Given the description of an element on the screen output the (x, y) to click on. 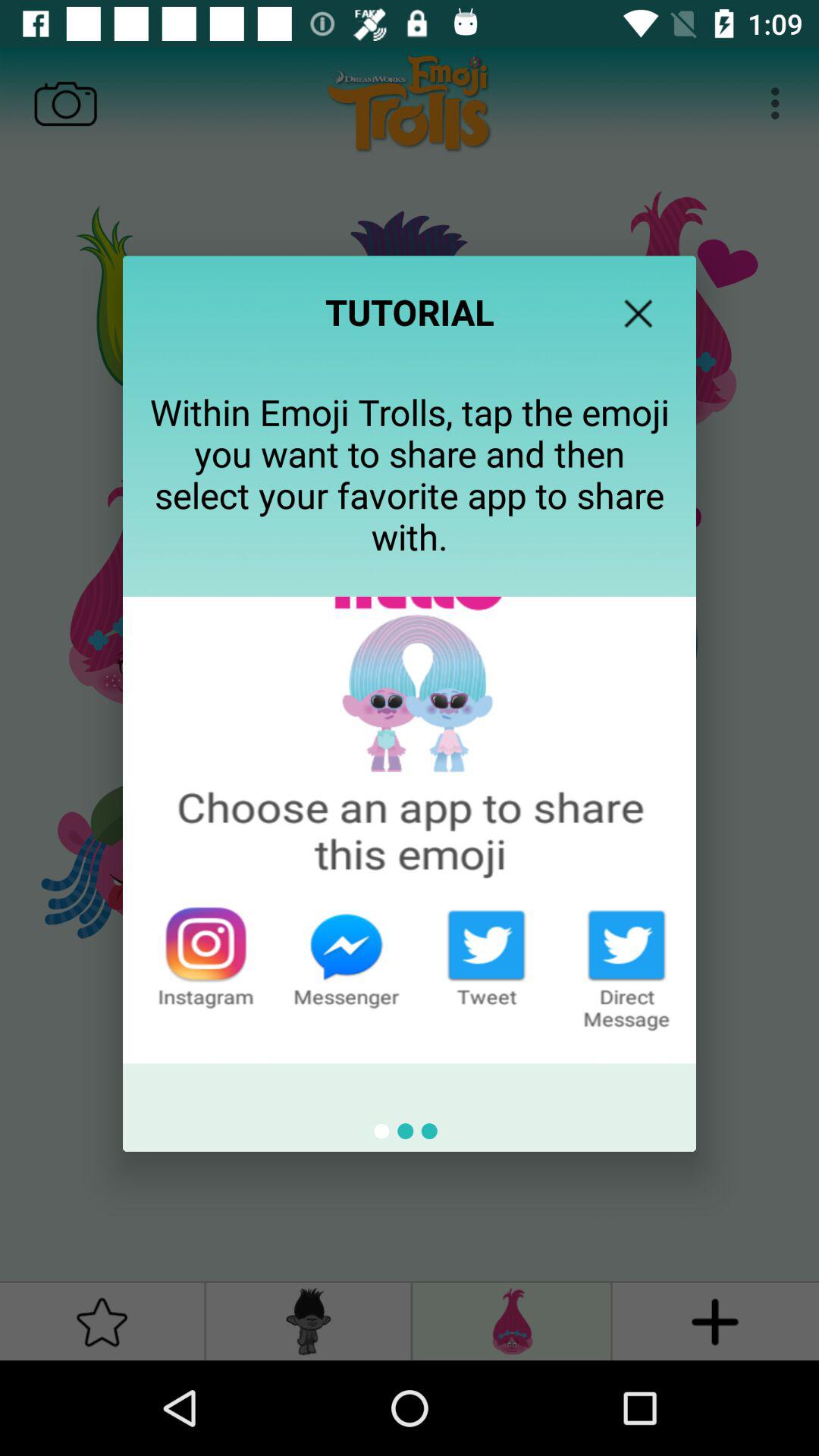
choose the item at the top right corner (638, 313)
